Given the description of an element on the screen output the (x, y) to click on. 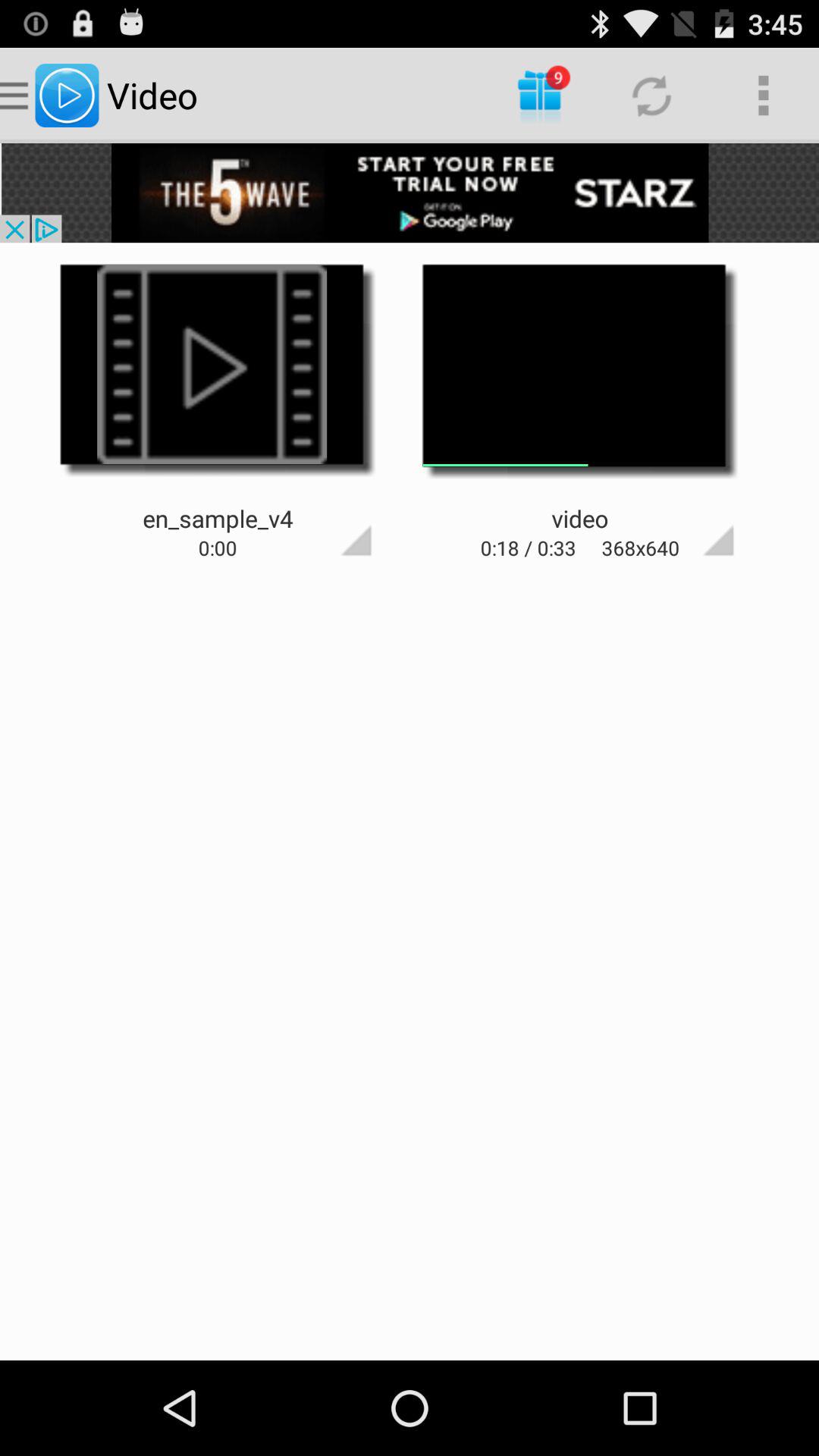
toggle to open option (329, 513)
